Given the description of an element on the screen output the (x, y) to click on. 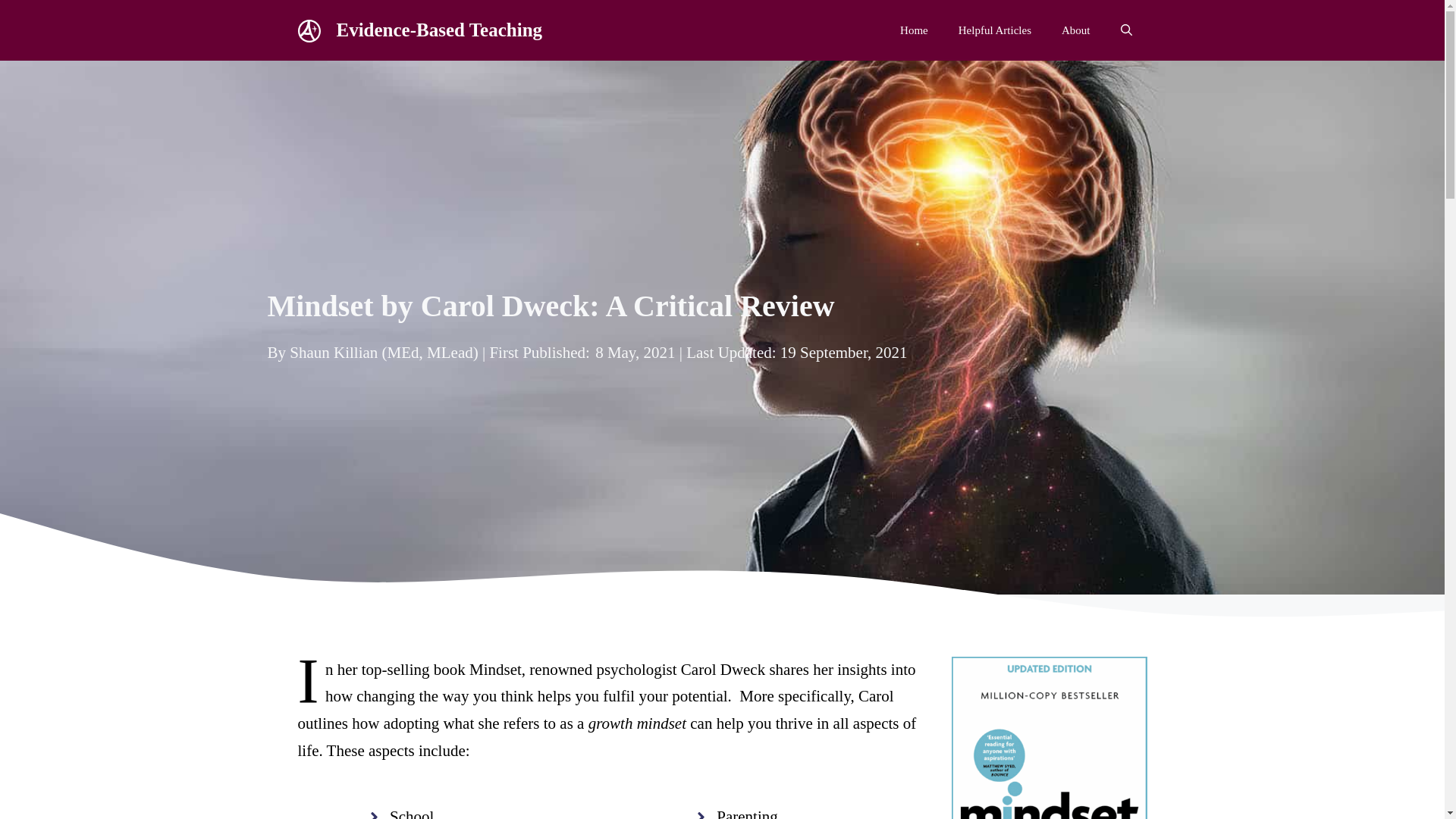
About Element type: text (1075, 30)
Evidence-Based Teaching Element type: text (439, 29)
Home Element type: text (913, 30)
Evidence-Based Teaching Element type: hover (308, 30)
Shaun Killian (MEd, MLead) Element type: text (383, 352)
Evidence-Based Teaching Element type: hover (308, 29)
Helpful Articles Element type: text (994, 30)
